Given the description of an element on the screen output the (x, y) to click on. 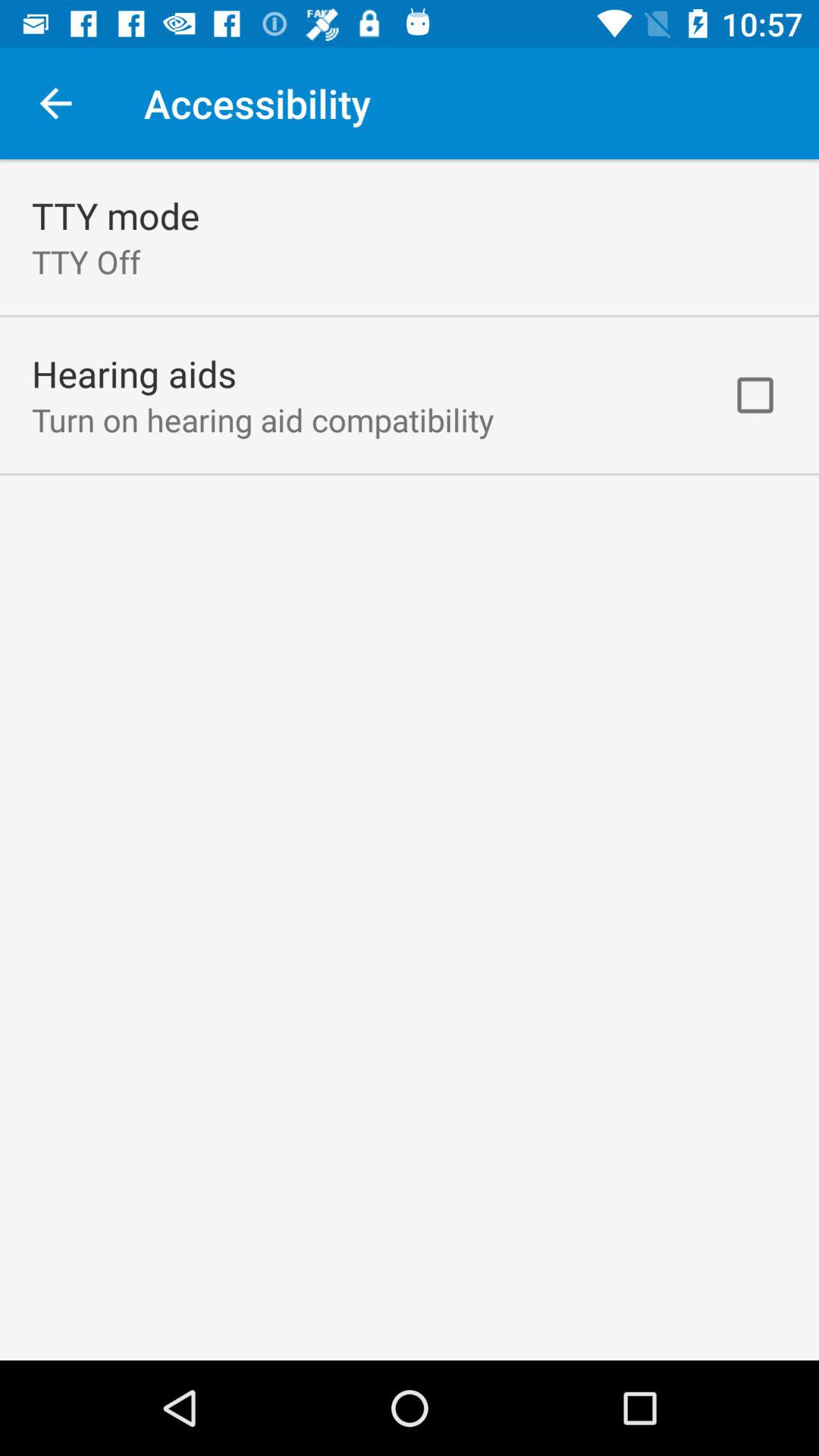
choose item at the center (409, 759)
